Given the description of an element on the screen output the (x, y) to click on. 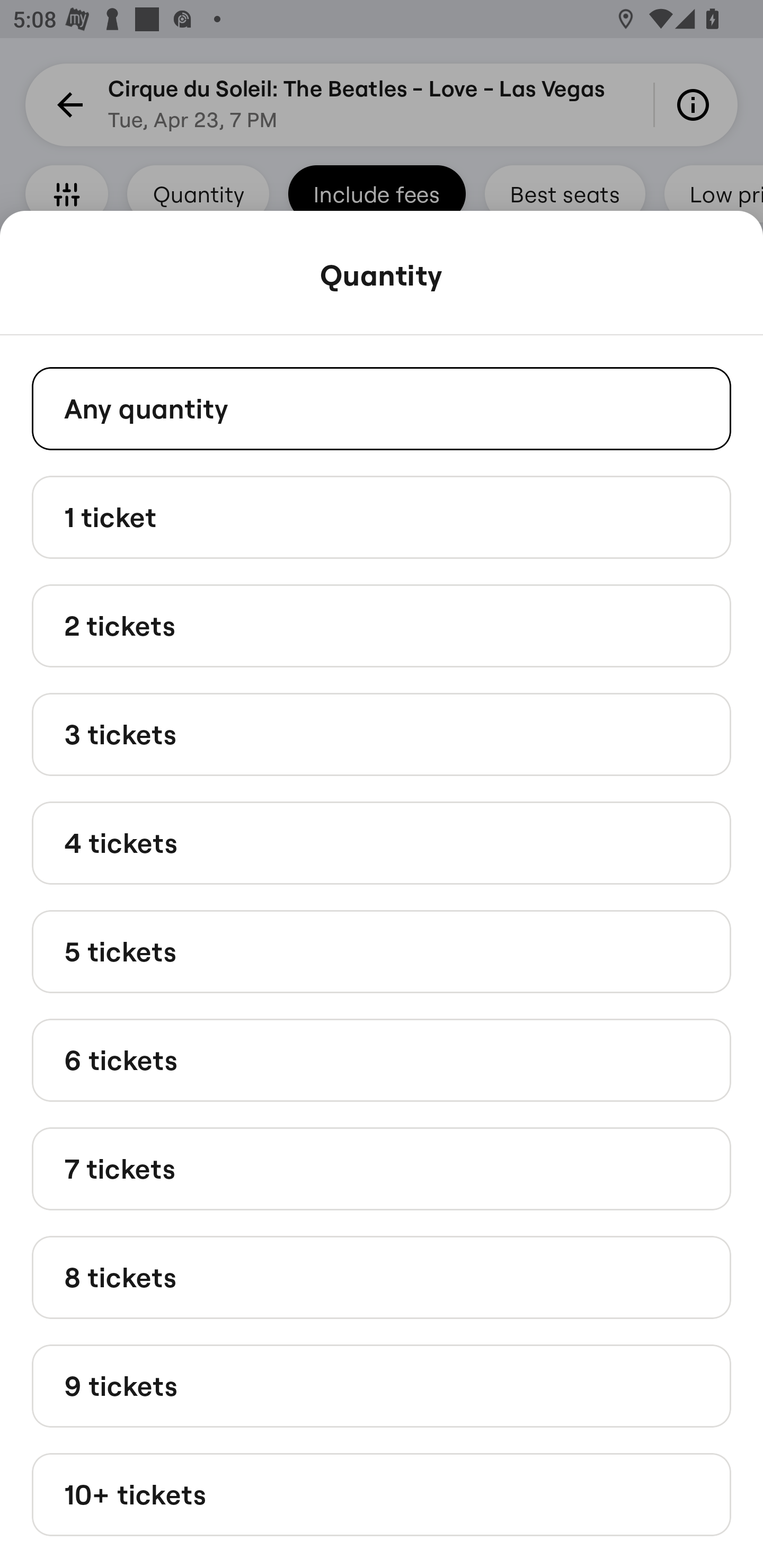
Any quantity (381, 408)
1 ticket (381, 516)
2 tickets (381, 625)
3 tickets (381, 734)
4 tickets (381, 842)
5 tickets (381, 950)
6 tickets (381, 1060)
7 tickets (381, 1168)
8 tickets (381, 1276)
9 tickets (381, 1384)
10+ tickets (381, 1494)
